Given the description of an element on the screen output the (x, y) to click on. 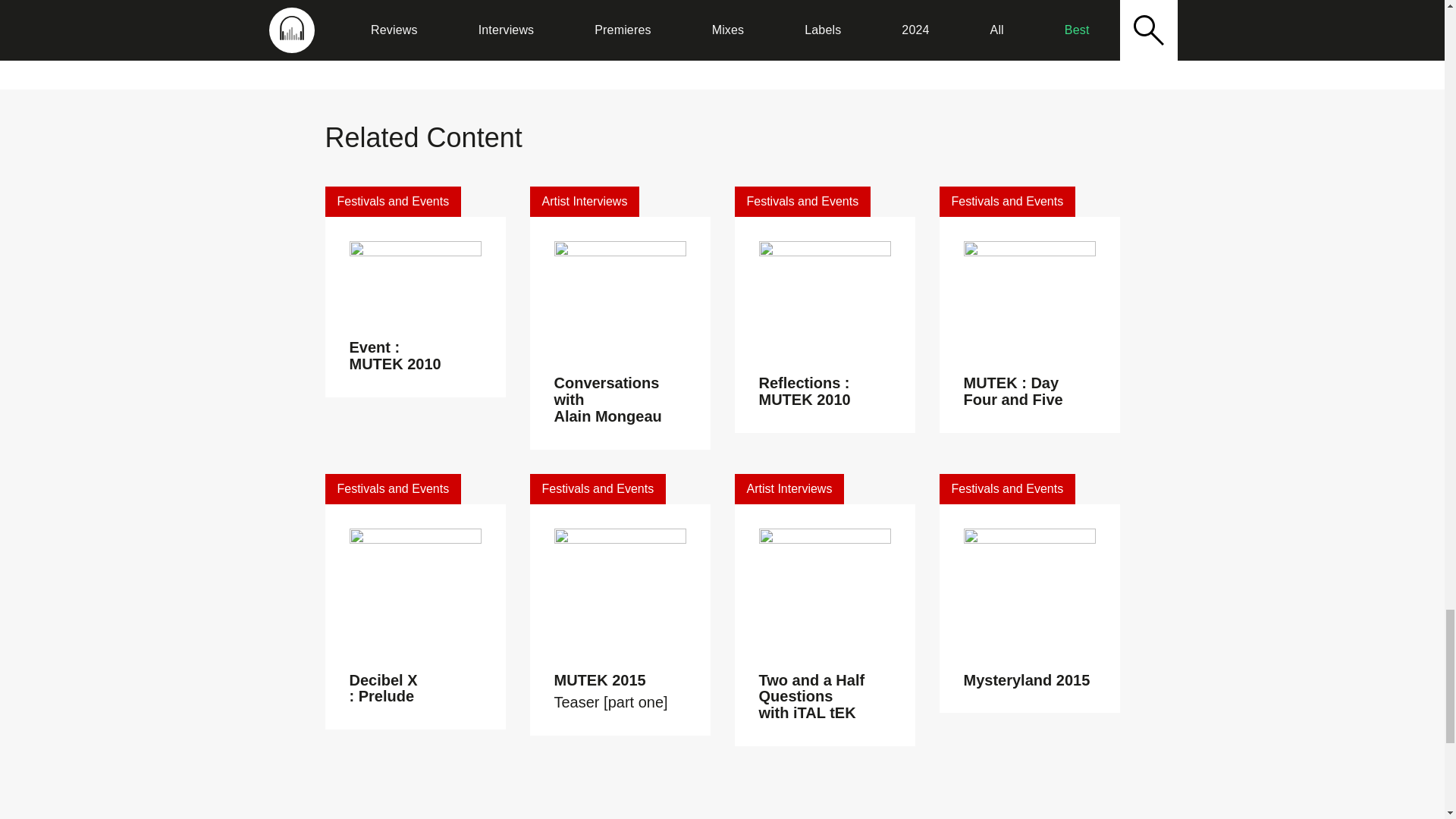
Day Two (601, 31)
Summary (846, 31)
Day Three (664, 31)
Festivals and Events (392, 489)
Conversations with Alain Mongeau (607, 399)
Festivals and Events (392, 201)
Preview (483, 31)
Day Four and Five (756, 31)
Festivals and Events (1007, 201)
Artist Interviews (584, 201)
